Given the description of an element on the screen output the (x, y) to click on. 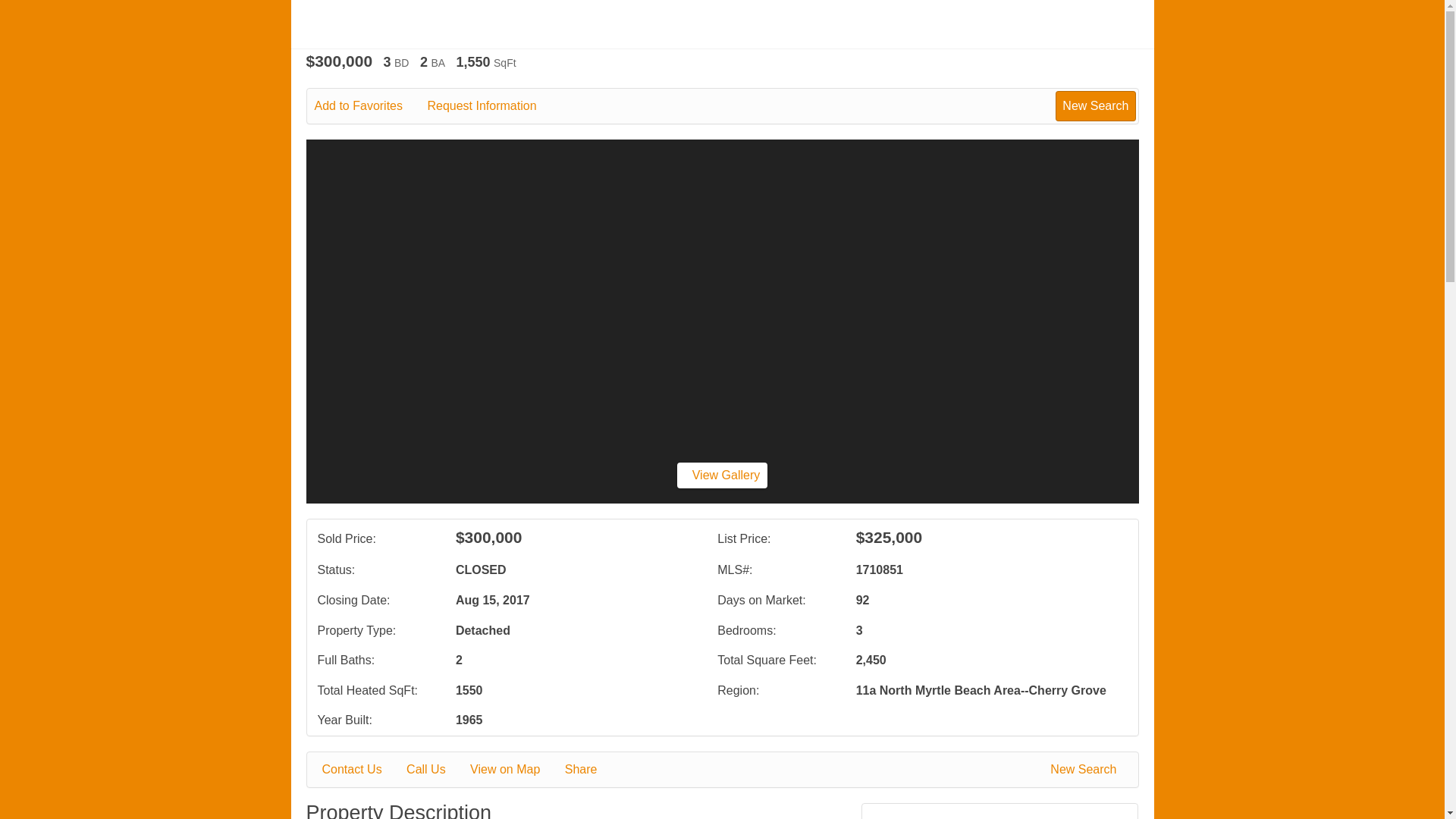
Share (591, 769)
New Search (1095, 105)
Add to Favorites (368, 106)
Call Us (436, 769)
New Search (1085, 769)
Contact Us (362, 769)
View Gallery (722, 474)
View Gallery (722, 475)
View on Map (515, 769)
Request Information (491, 106)
